Given the description of an element on the screen output the (x, y) to click on. 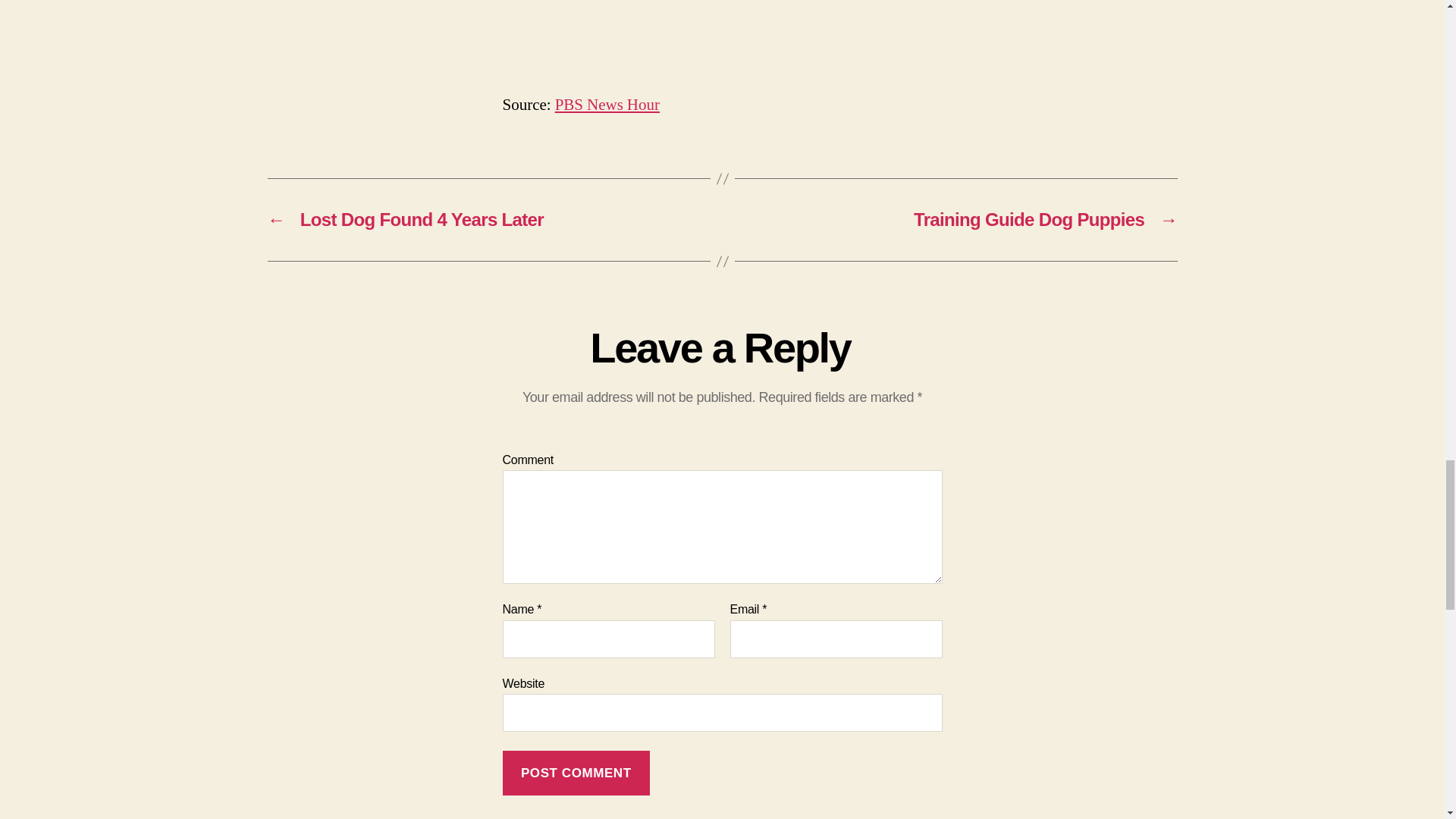
Post Comment (575, 773)
Which are smarter, cats or dogs? We asked a scientist (722, 37)
Post Comment (575, 773)
PBS News Hour (606, 105)
